Given the description of an element on the screen output the (x, y) to click on. 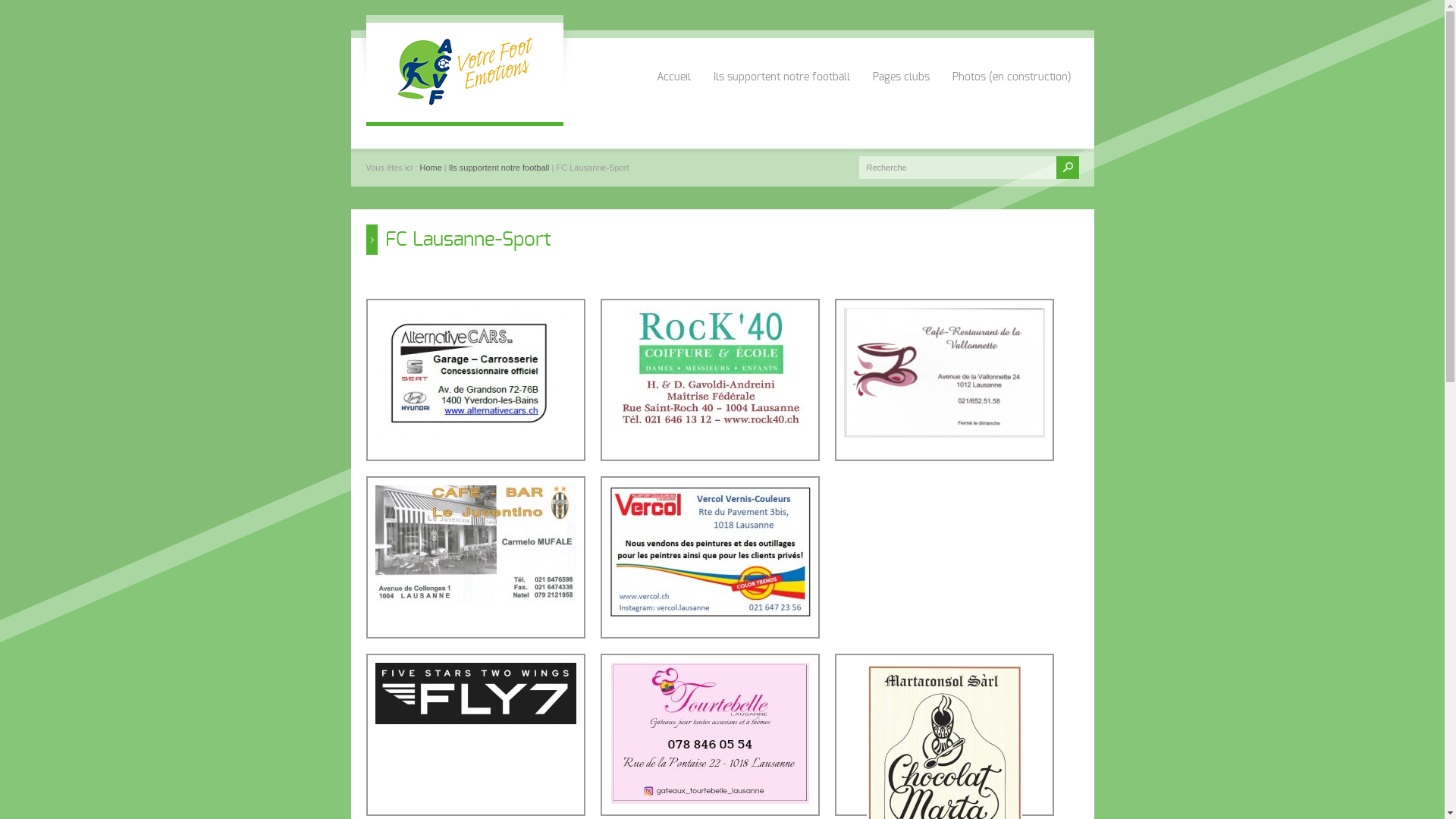
Photos (en construction) Element type: text (1011, 60)
Pages clubs Element type: text (900, 60)
Ils supportent notre football Element type: text (498, 167)
Accueil Element type: text (673, 60)
Home Element type: text (430, 167)
Ils supportent notre football Element type: text (780, 60)
